Given the description of an element on the screen output the (x, y) to click on. 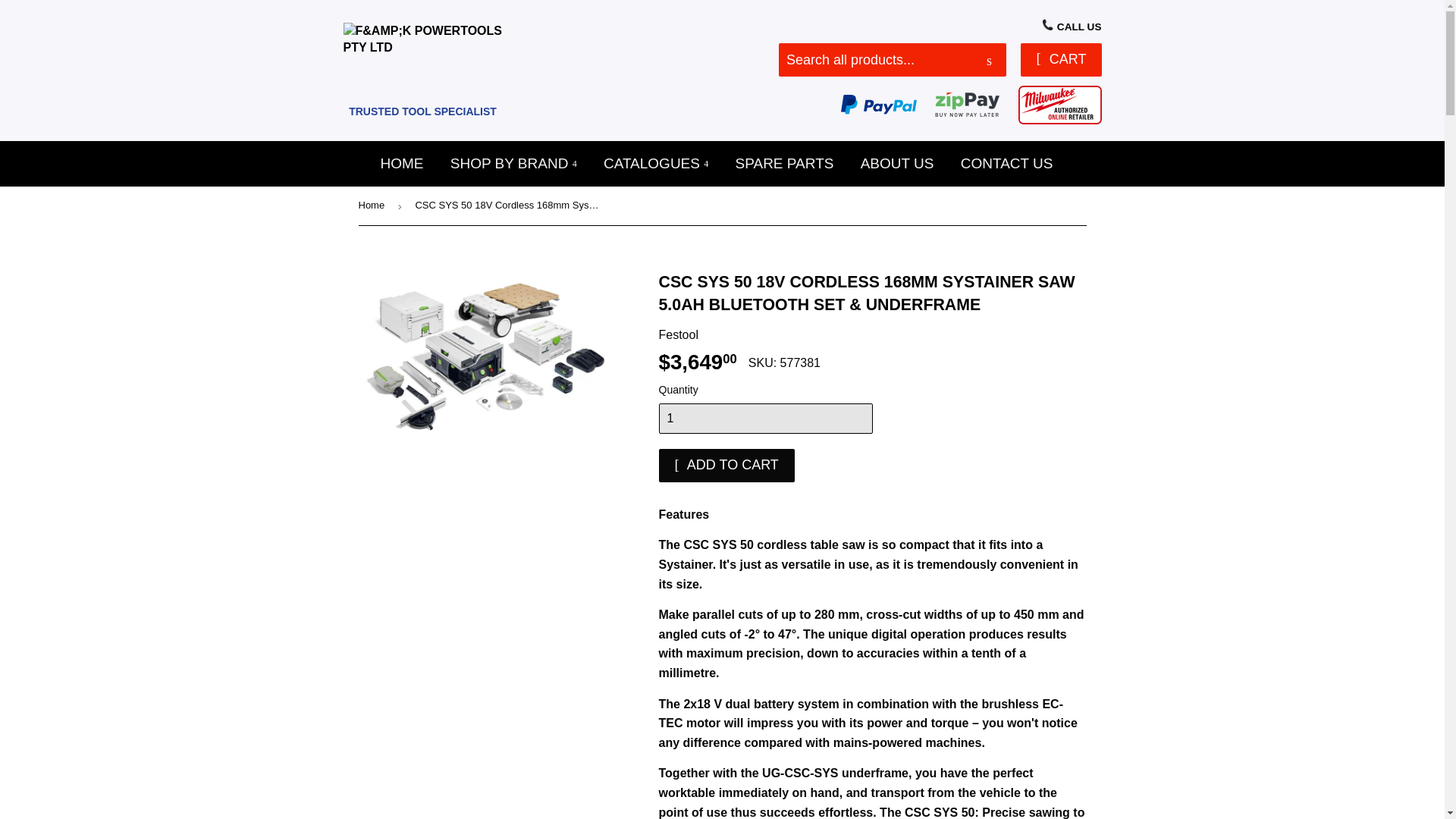
Search (989, 60)
SPARE PARTS (784, 163)
ABOUT US (896, 163)
1 (765, 418)
CATALOGUES (655, 163)
CALL US (1071, 26)
SHOP BY BRAND (513, 163)
HOME (400, 163)
CONTACT US (1006, 163)
CART (1060, 59)
ADD TO CART (725, 465)
